Given the description of an element on the screen output the (x, y) to click on. 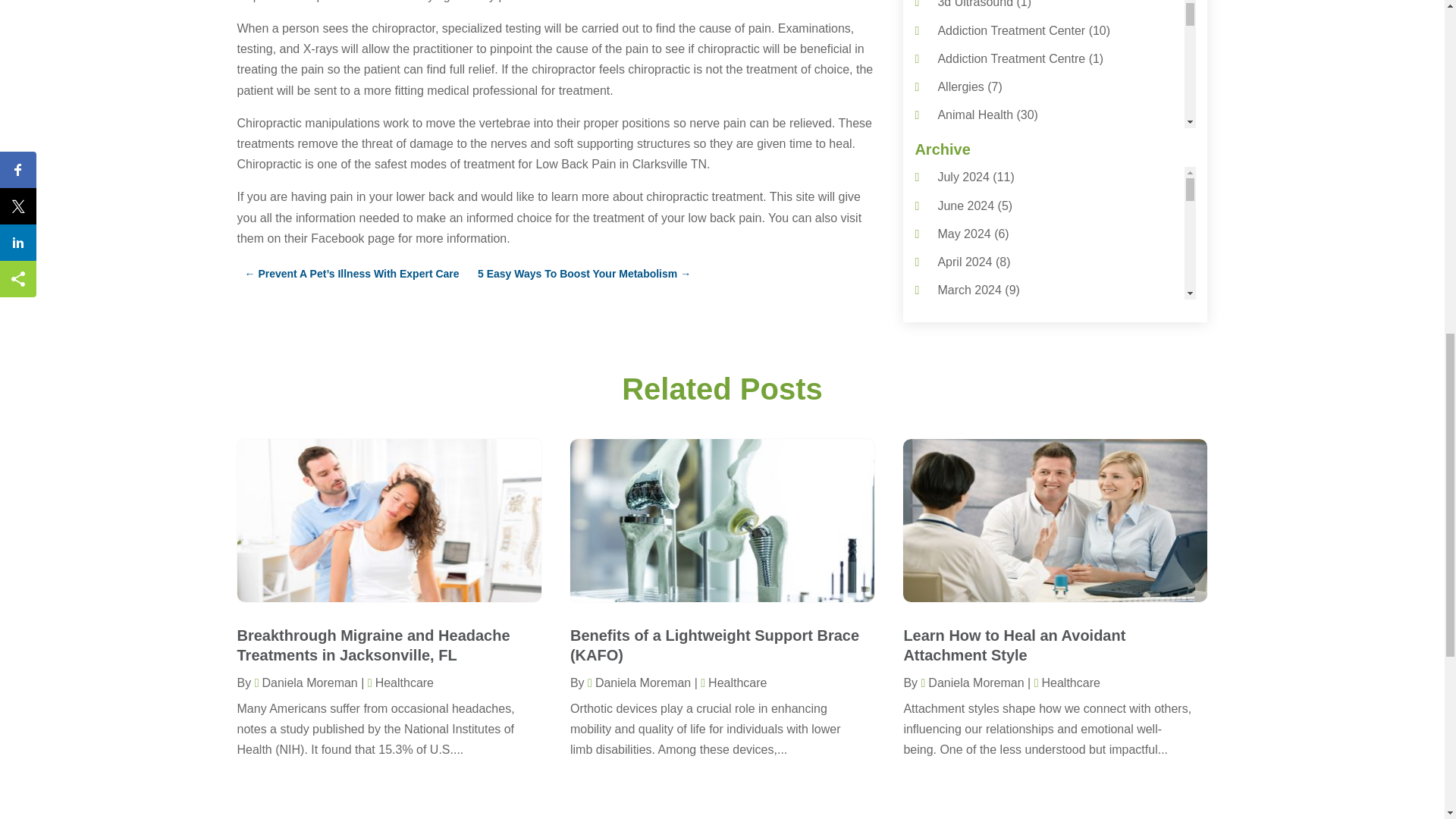
Assisted Living Facility (998, 199)
Animal Health (975, 114)
Biotechnology Company (1002, 311)
Breast Augmentation (993, 340)
Posts by Daniela Moreman (971, 682)
Cancer Treatment Center (1005, 396)
Animal Hospitals (982, 142)
Audiologist (966, 227)
Baby Food (966, 255)
Addiction Treatment Center (1010, 30)
Addiction Treatment Centre (1010, 58)
Posts by Daniela Moreman (306, 682)
3d Ultrasound (975, 4)
Beauty (956, 283)
Assisted Living (977, 170)
